Given the description of an element on the screen output the (x, y) to click on. 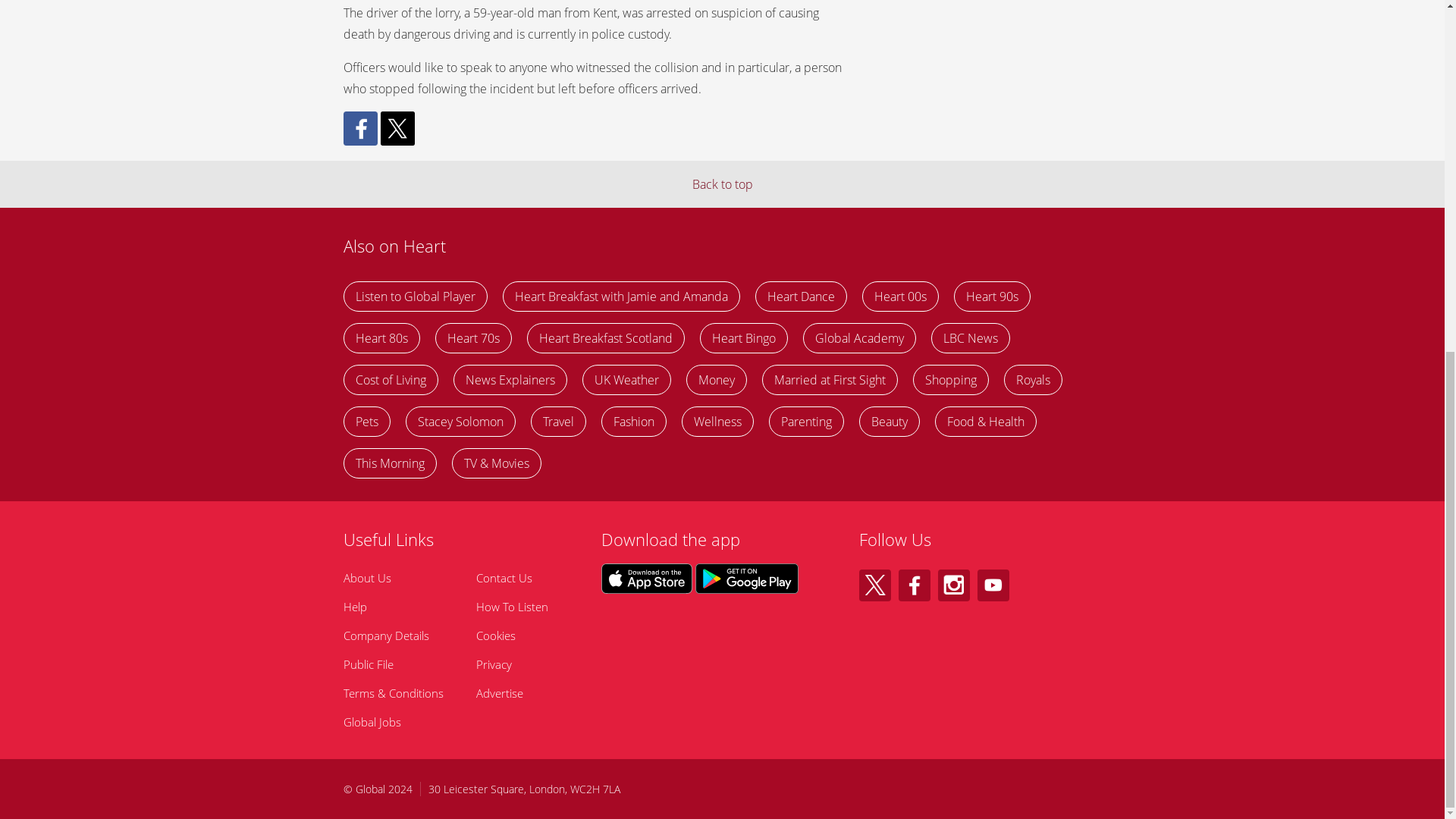
Follow Heart on Youtube (992, 585)
Follow Heart on Facebook (914, 585)
Back to top (721, 184)
Follow Heart on Instagram (953, 585)
Follow Heart on X (874, 585)
